Given the description of an element on the screen output the (x, y) to click on. 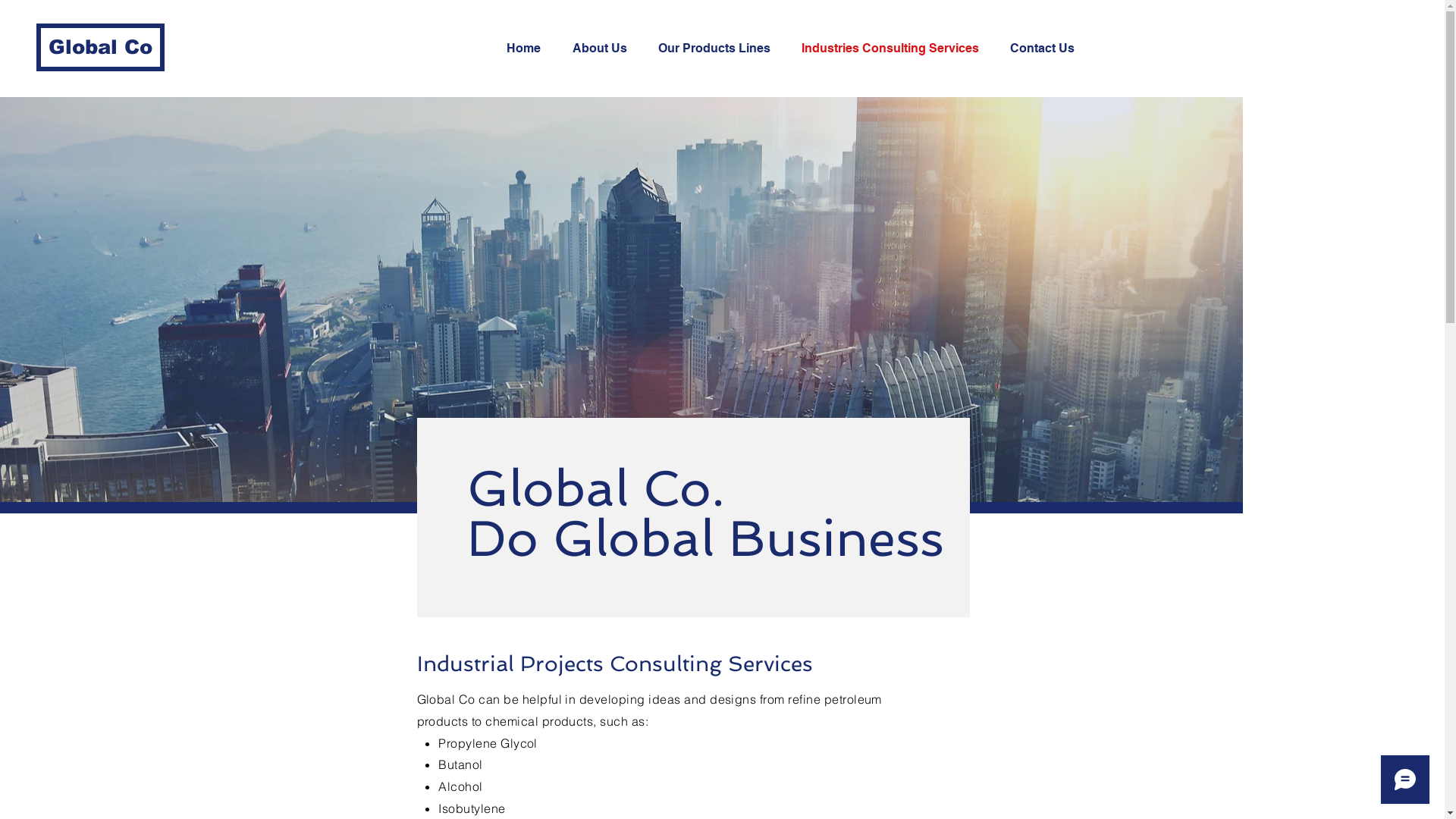
Our Products Lines Element type: text (717, 48)
Global Co Element type: text (100, 47)
About Us Element type: text (603, 48)
Home Element type: text (527, 48)
Contact Us Element type: text (1045, 48)
Industries Consulting Services Element type: text (894, 48)
